Given the description of an element on the screen output the (x, y) to click on. 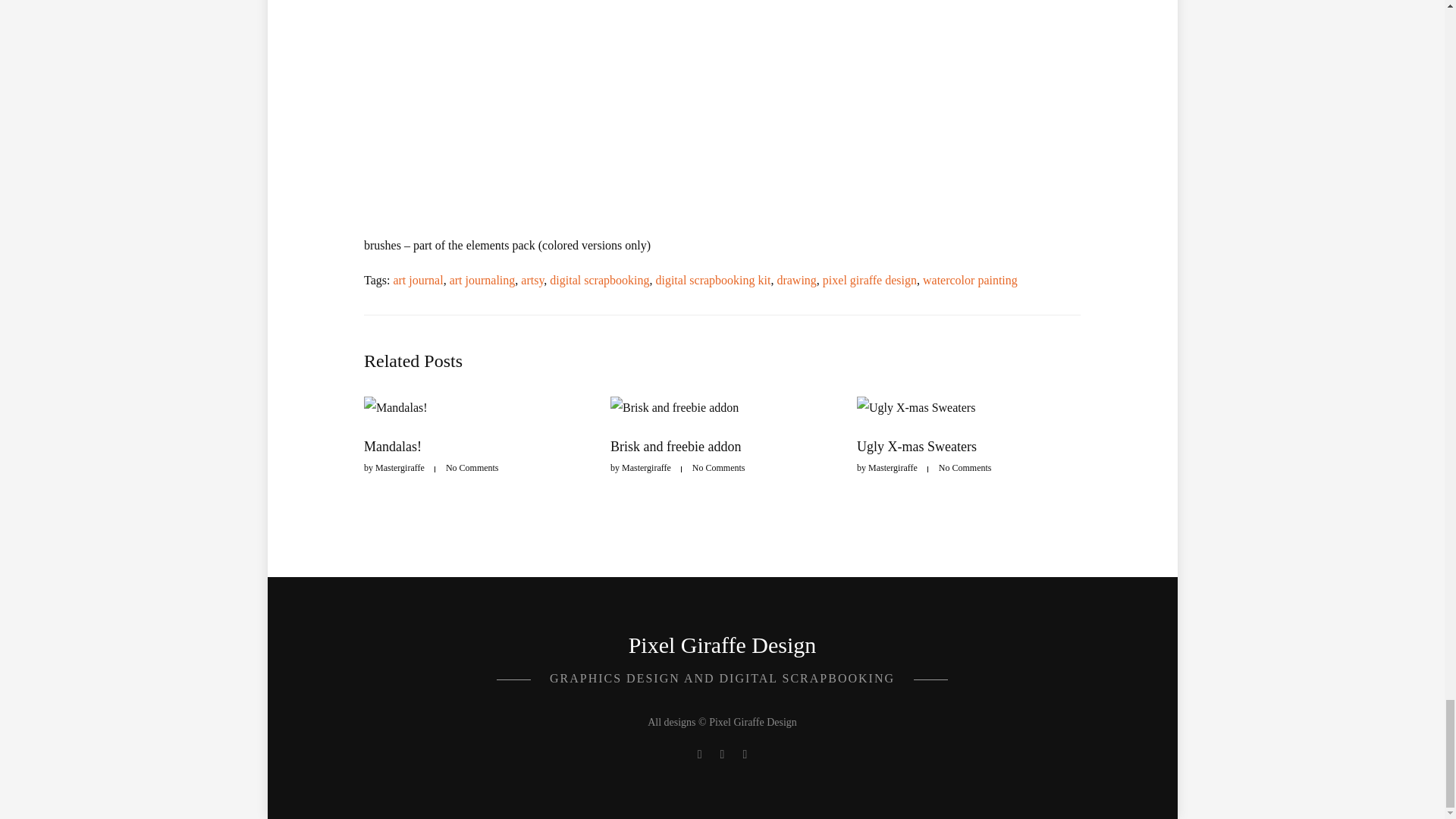
art journaling (482, 279)
art journal (417, 279)
